Given the description of an element on the screen output the (x, y) to click on. 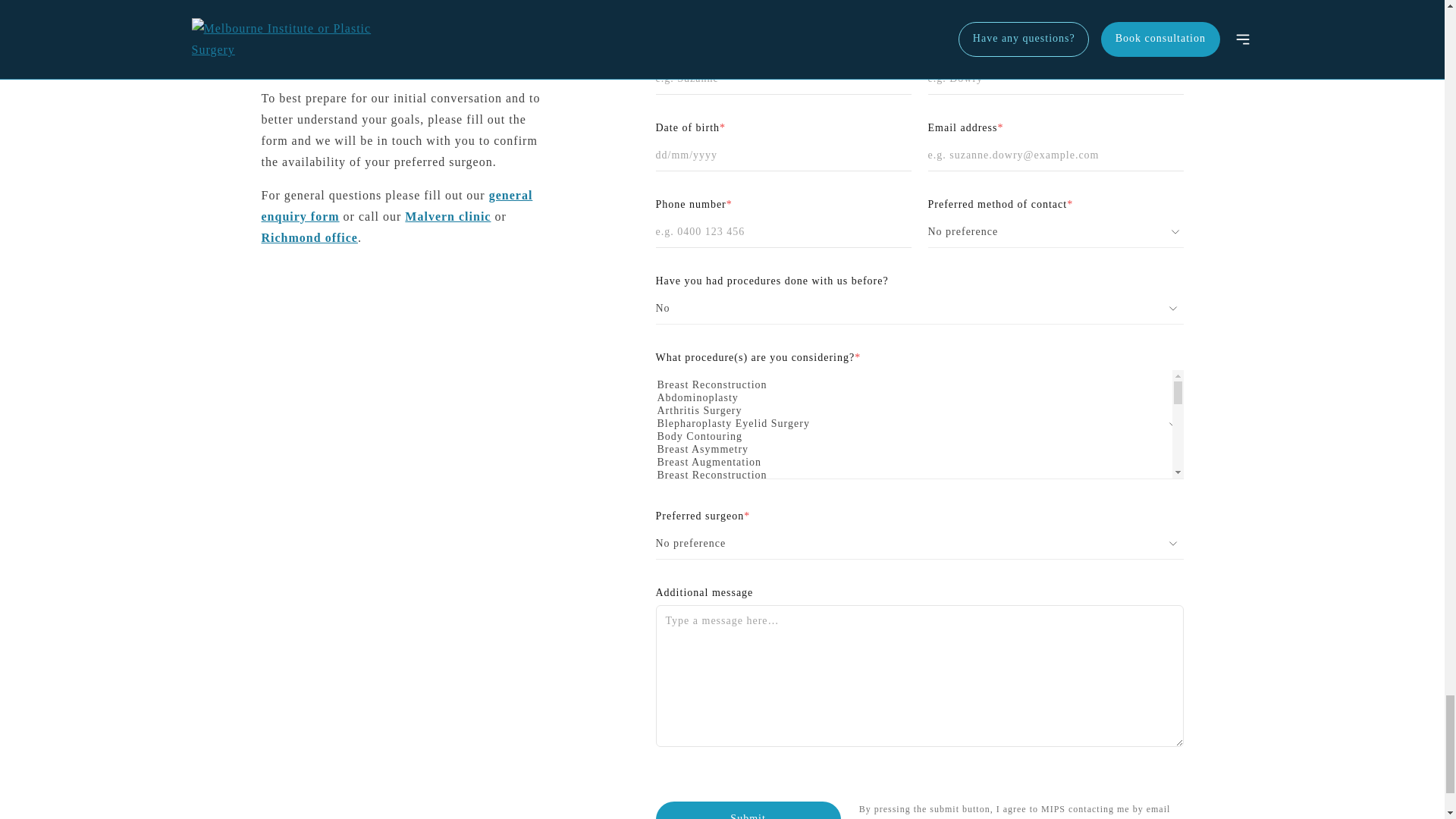
Malvern clinic (447, 215)
general enquiry form (396, 205)
Submit (747, 810)
Submit (747, 810)
Richmond office (308, 237)
